Given the description of an element on the screen output the (x, y) to click on. 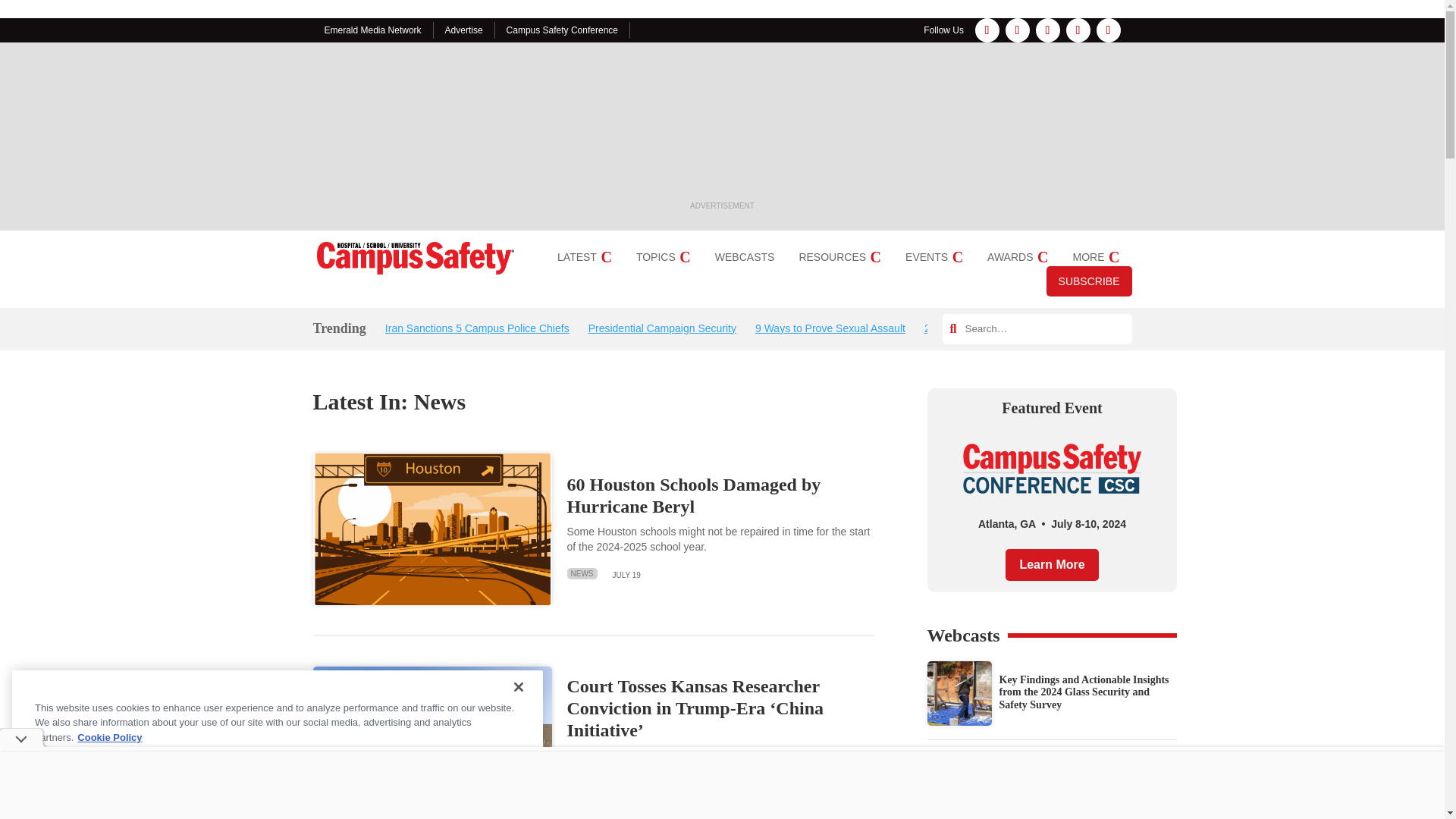
3rd party ad content (722, 127)
Advertise (464, 30)
LATEST (584, 256)
Follow on Facebook (986, 30)
Follow on X (1077, 30)
Follow on LinkedIn (1047, 30)
TOPICS (663, 256)
Follow on Instagram (1017, 30)
Campus Safety Conference (561, 30)
Emerald Media Network (373, 30)
Follow on Youtube (1108, 30)
